Given the description of an element on the screen output the (x, y) to click on. 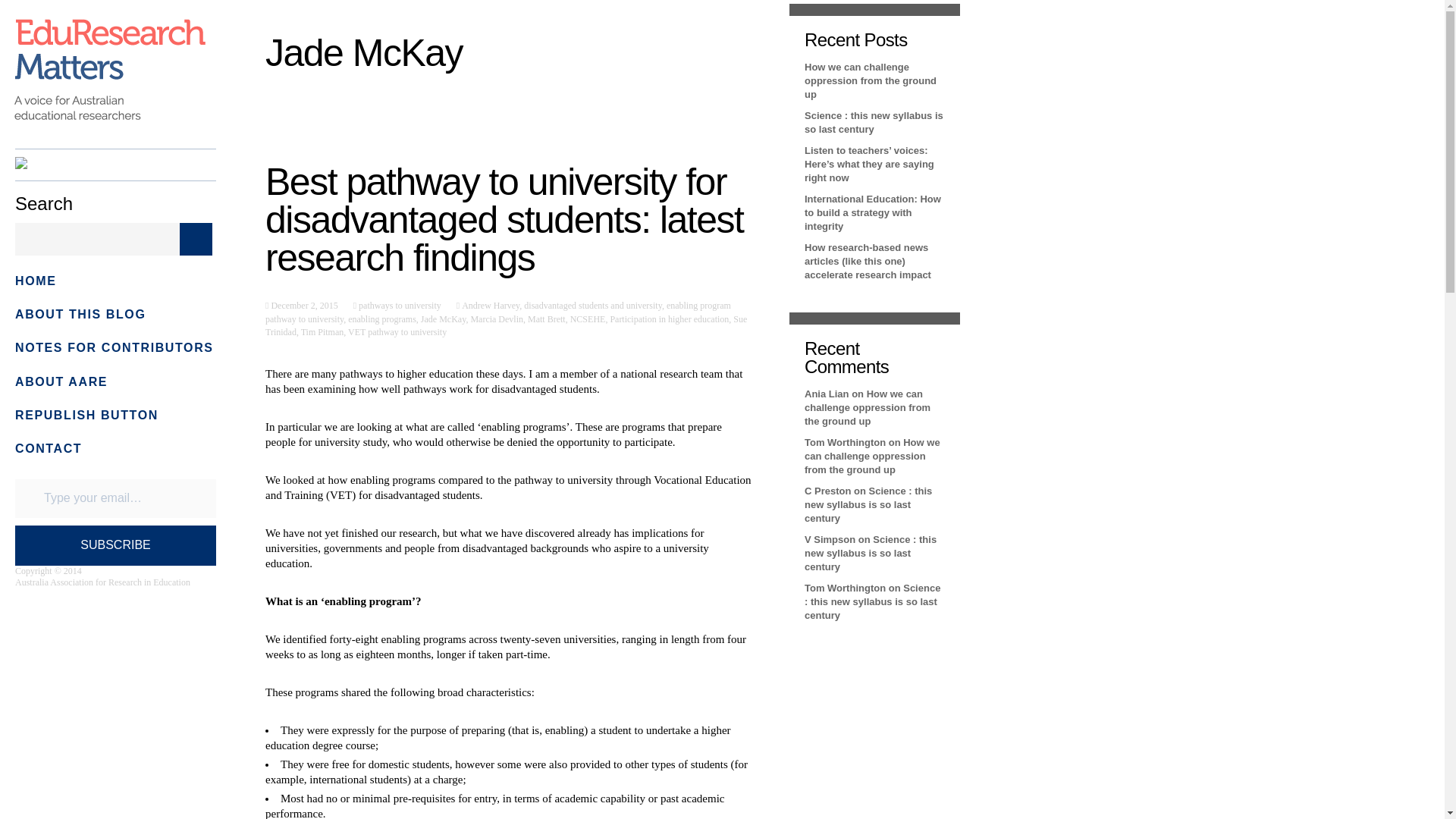
How we can challenge oppression from the ground up (870, 80)
Science : this new syllabus is so last century (870, 552)
Please fill in this field. (114, 498)
NOTES FOR CONTRIBUTORS (114, 347)
enabling programs (381, 318)
December 2, 2015 (302, 305)
VET pathway to university (396, 331)
ABOUT THIS BLOG (79, 314)
REPUBLISH BUTTON (86, 414)
disadvantaged students and university (593, 305)
Tom Worthington (845, 441)
Participation in higher education (669, 318)
CONTACT (47, 448)
